Given the description of an element on the screen output the (x, y) to click on. 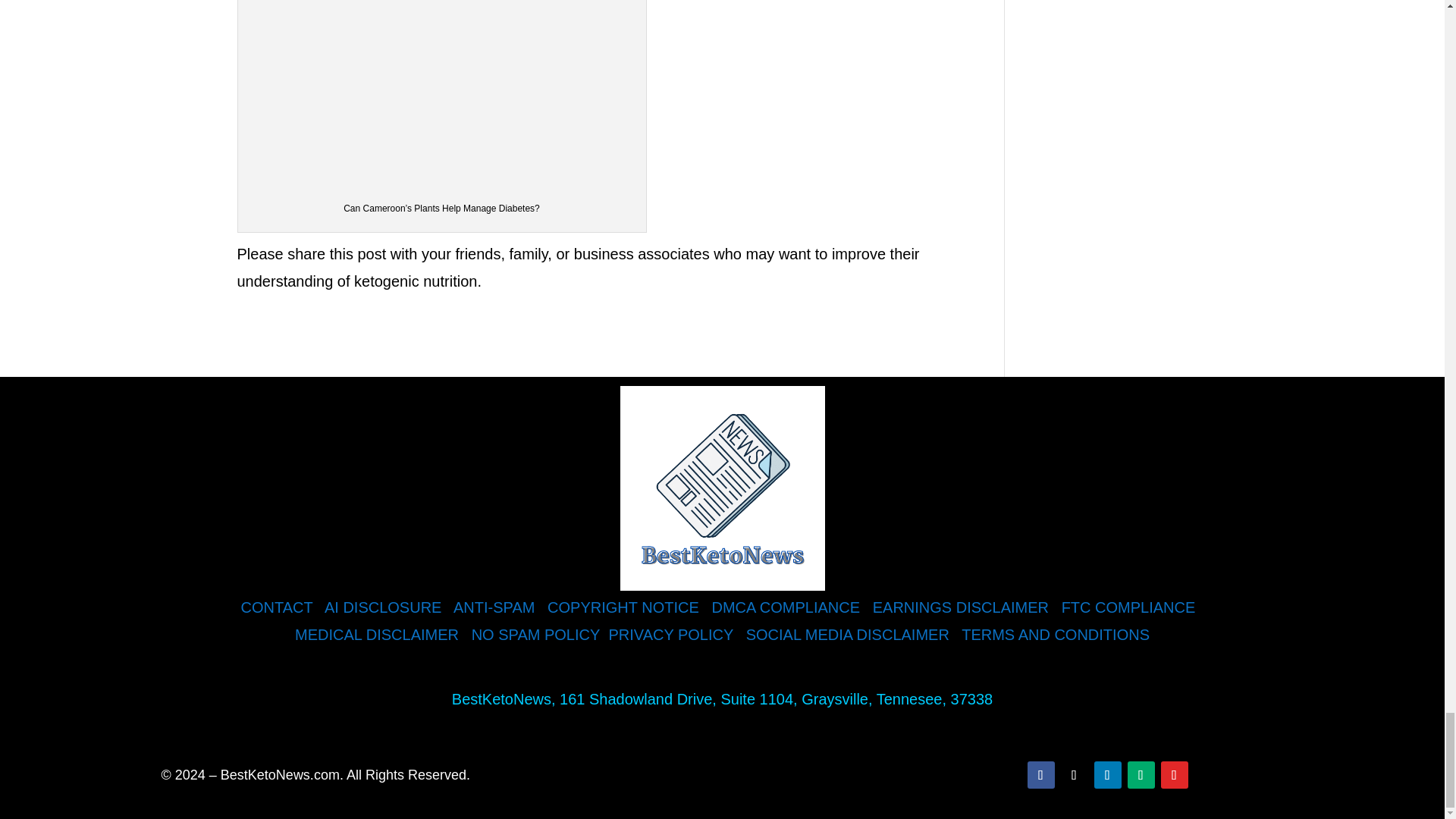
Can Cameroon's Plants Help Manage Diabetes? (442, 93)
AI DISCLOSURE (382, 606)
best-keto-news (722, 487)
Follow on Facebook (1040, 774)
